Given the description of an element on the screen output the (x, y) to click on. 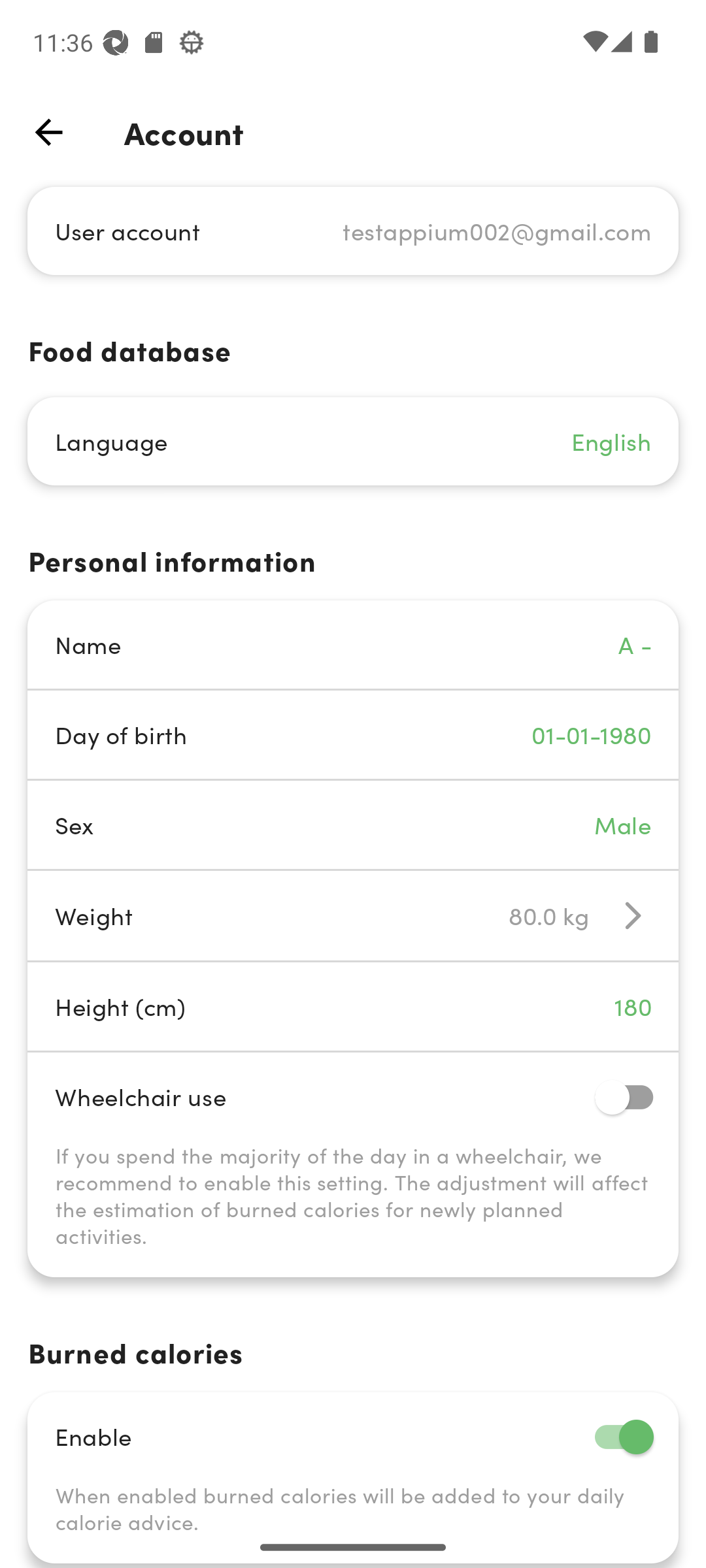
top_left_action (48, 132)
User account testappium002@gmail.com (352, 230)
Language English (352, 441)
Name A - (352, 644)
Day of birth 01-01-1980 (352, 734)
Sex Male (352, 824)
Weight 80.0 kg (352, 914)
Height (cm) 180 (352, 1006)
Wheelchair use (352, 1096)
Enable (352, 1436)
